Given the description of an element on the screen output the (x, y) to click on. 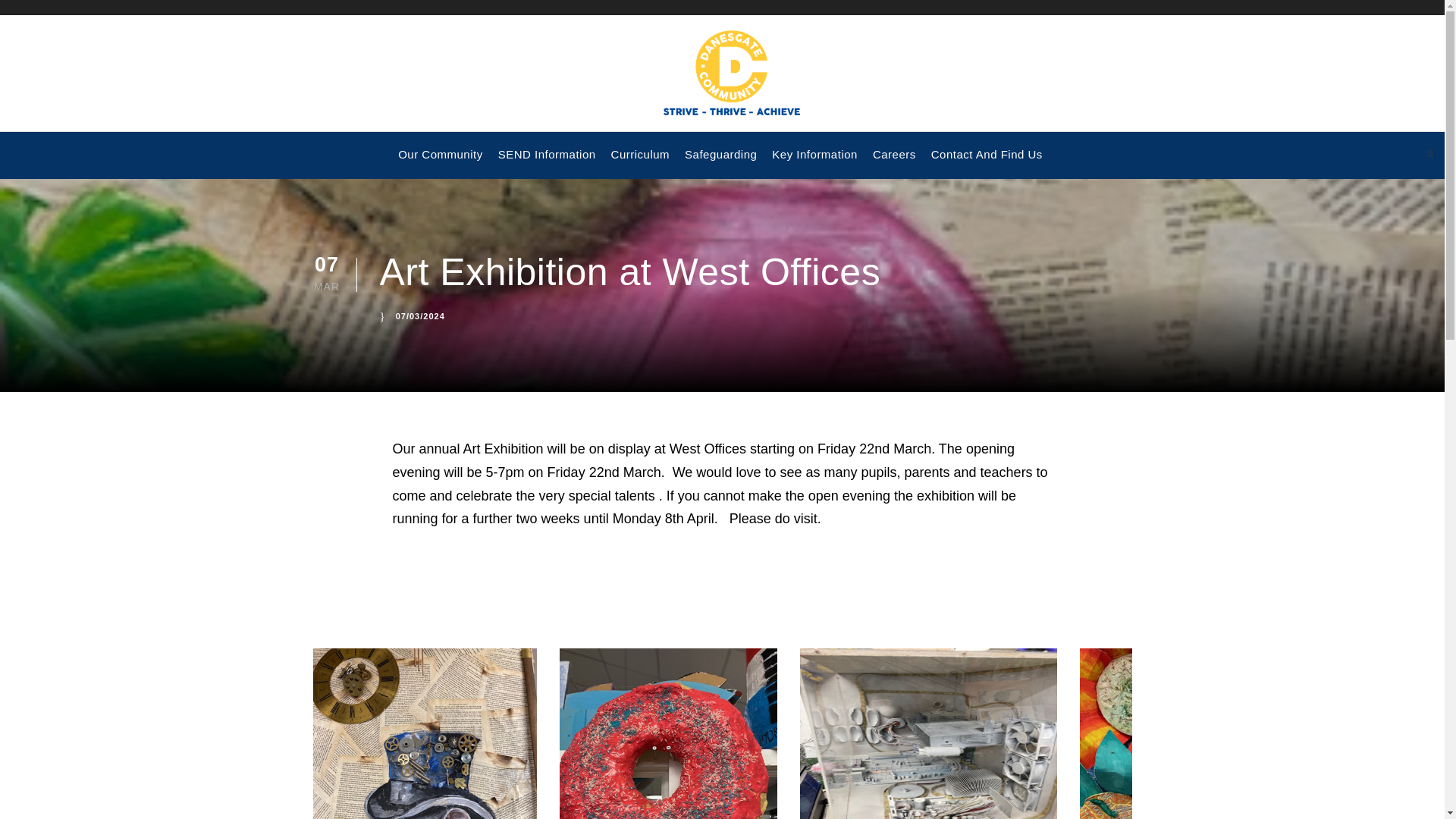
Picture1 (424, 733)
Our Community (440, 161)
Picture4 (1191, 733)
Picture2 (668, 733)
Picture3 (928, 733)
Curriculum (640, 161)
SEND Information (546, 161)
